Given the description of an element on the screen output the (x, y) to click on. 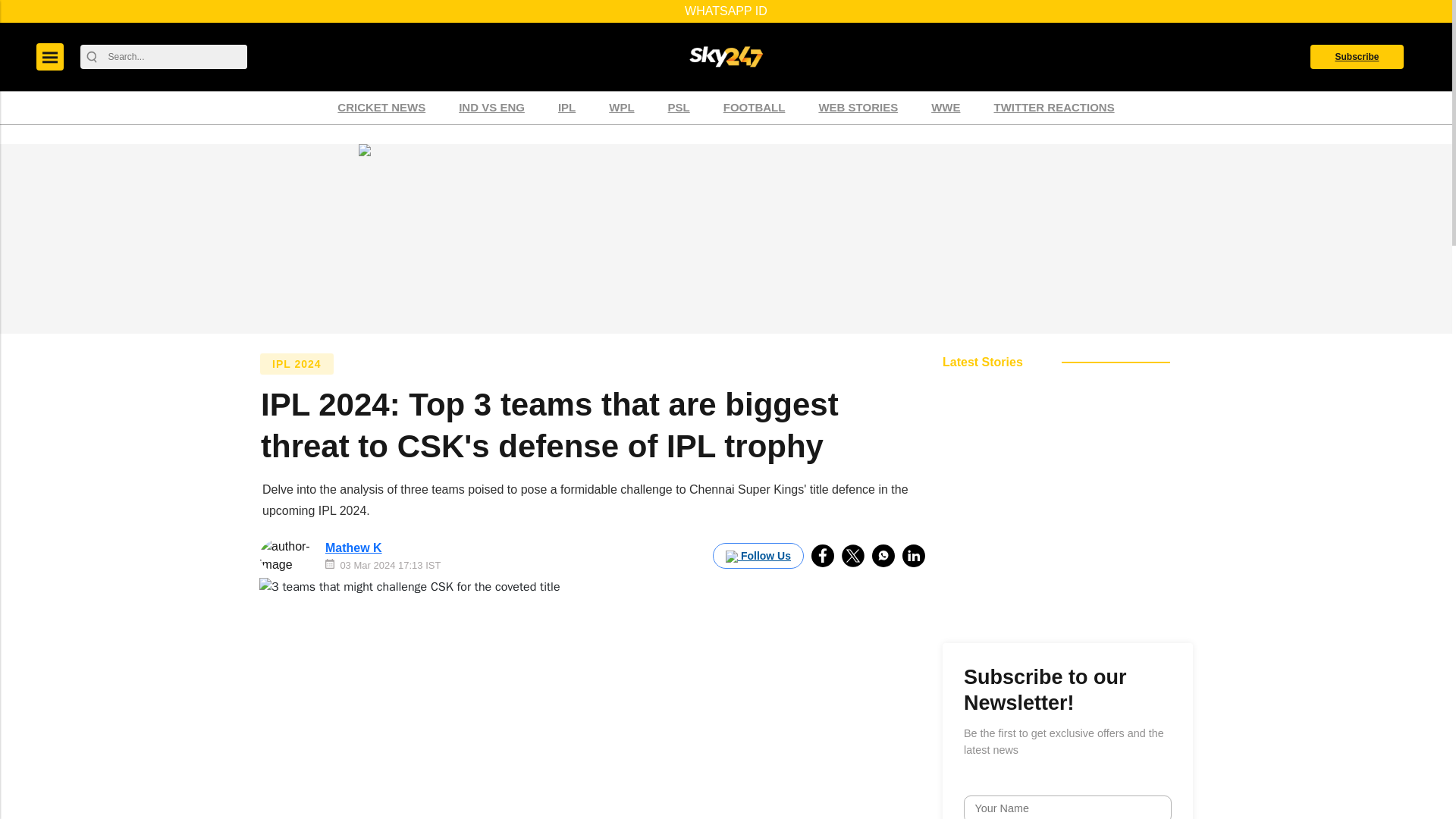
PSL (678, 107)
WPL (620, 107)
TWITTER REACTIONS (1053, 107)
FOOTBALL (753, 107)
Follow Us (758, 555)
Mathew K (352, 547)
Subscribe (1356, 56)
IPL (566, 107)
CRICKET NEWS (381, 107)
WWE (945, 107)
